Given the description of an element on the screen output the (x, y) to click on. 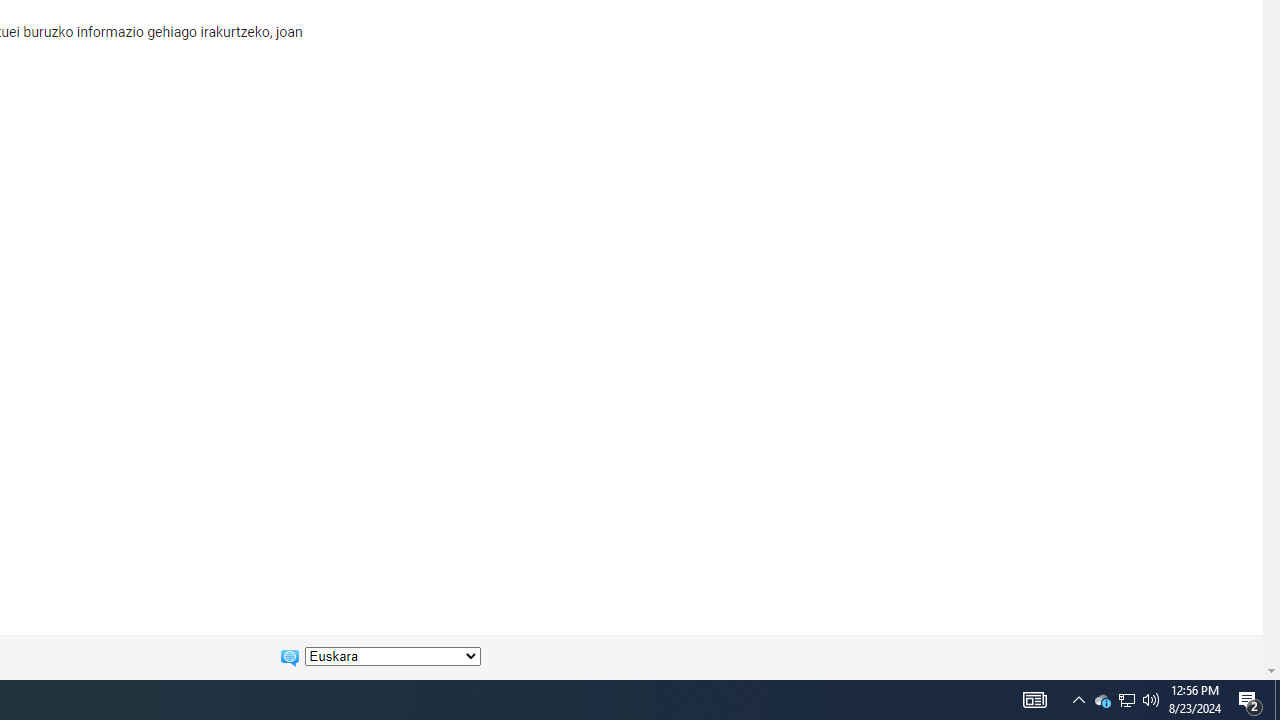
Aldatu hizkuntza: (392, 656)
